Given the description of an element on the screen output the (x, y) to click on. 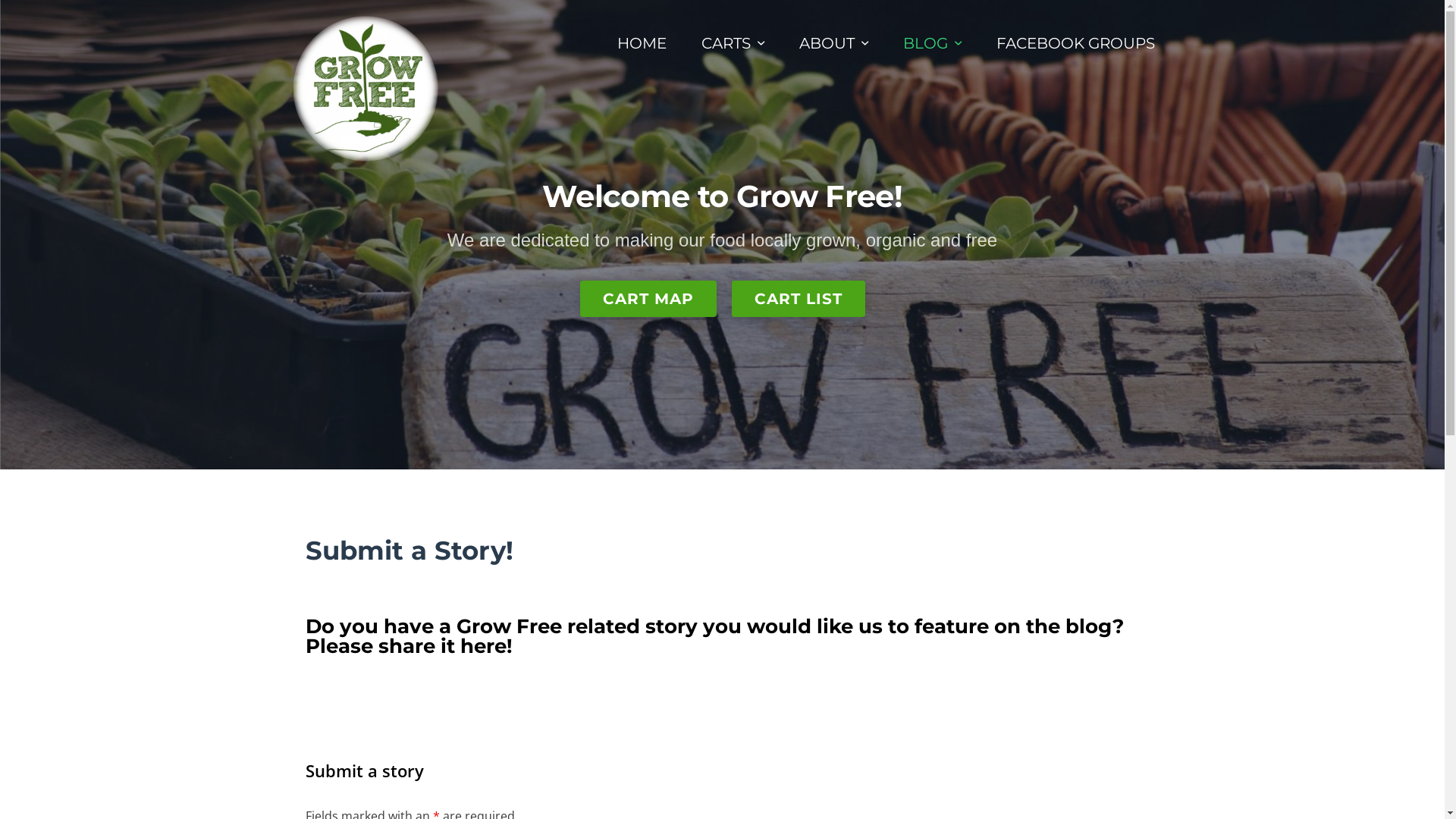
CARTS Element type: text (731, 43)
FACEBOOK GROUPS Element type: text (1075, 43)
ABOUT Element type: text (833, 43)
CART LIST Element type: text (797, 298)
HOME Element type: text (641, 43)
BLOG Element type: text (931, 43)
CART MAP Element type: text (647, 298)
